Given the description of an element on the screen output the (x, y) to click on. 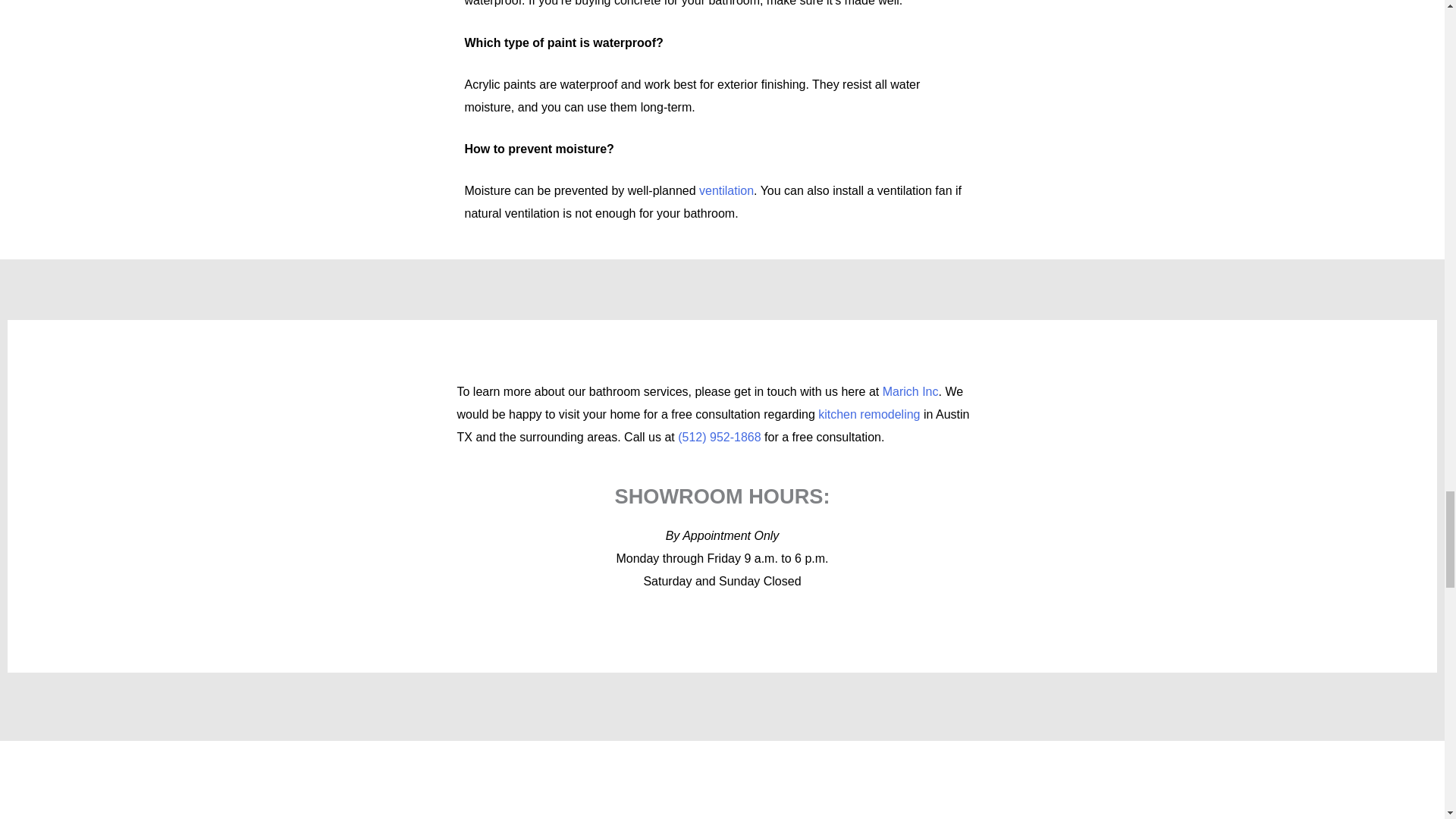
Bathroom Walls 13 (721, 783)
Bathroom Walls 11 (545, 783)
Bathroom Walls 15 (898, 783)
